Given the description of an element on the screen output the (x, y) to click on. 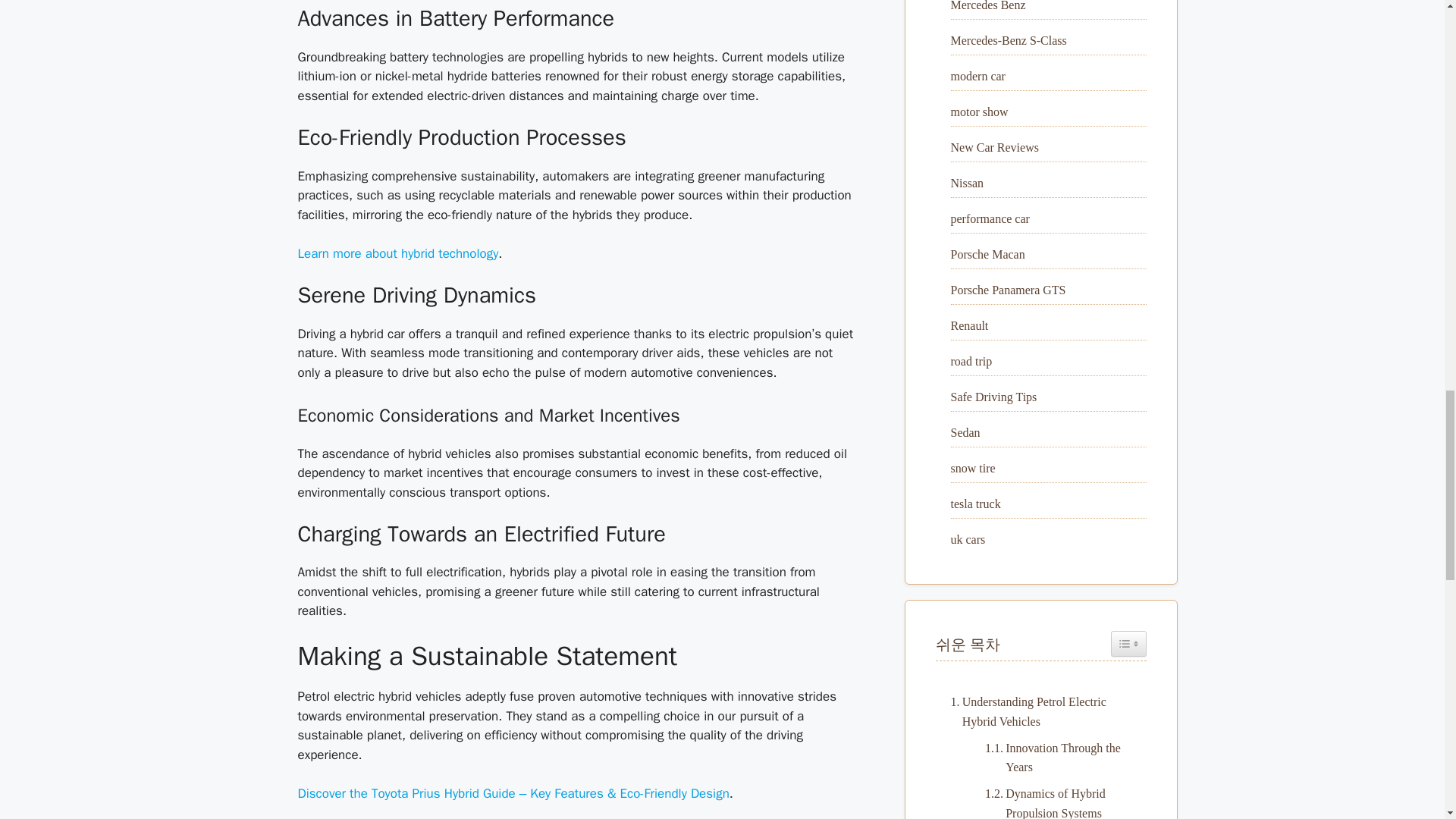
Dynamics of Hybrid Propulsion Systems (1057, 801)
Innovation Through the Years (1057, 757)
Understanding Petrol Electric Hybrid Vehicles (1040, 711)
Learn more about hybrid technology (397, 253)
